Given the description of an element on the screen output the (x, y) to click on. 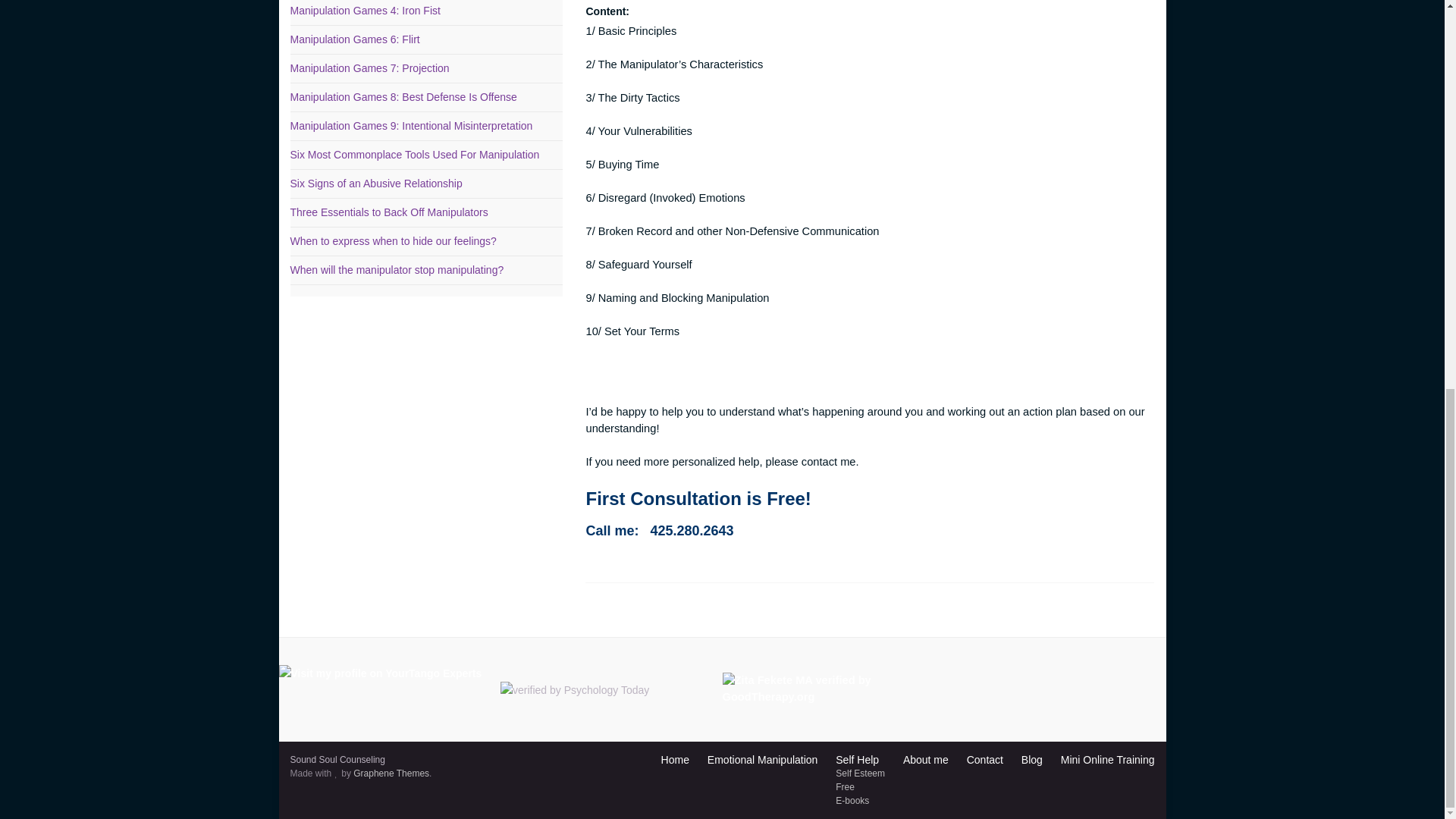
Three Essentials to Back Off Manipulators (388, 212)
Manipulation Games 6: Flirt (354, 39)
Six Signs of an Abusive Relationship (375, 183)
Six Most Commonplace Tools Used For Manipulation (413, 154)
Manipulation Games 4: Iron Fist (364, 10)
425.280.2643 (691, 530)
Manipulation Games 8: Best Defense Is Offense (402, 96)
Manipulation Games 9: Intentional Misinterpretation (410, 125)
Manipulation Games 7: Projection (368, 68)
